Given the description of an element on the screen output the (x, y) to click on. 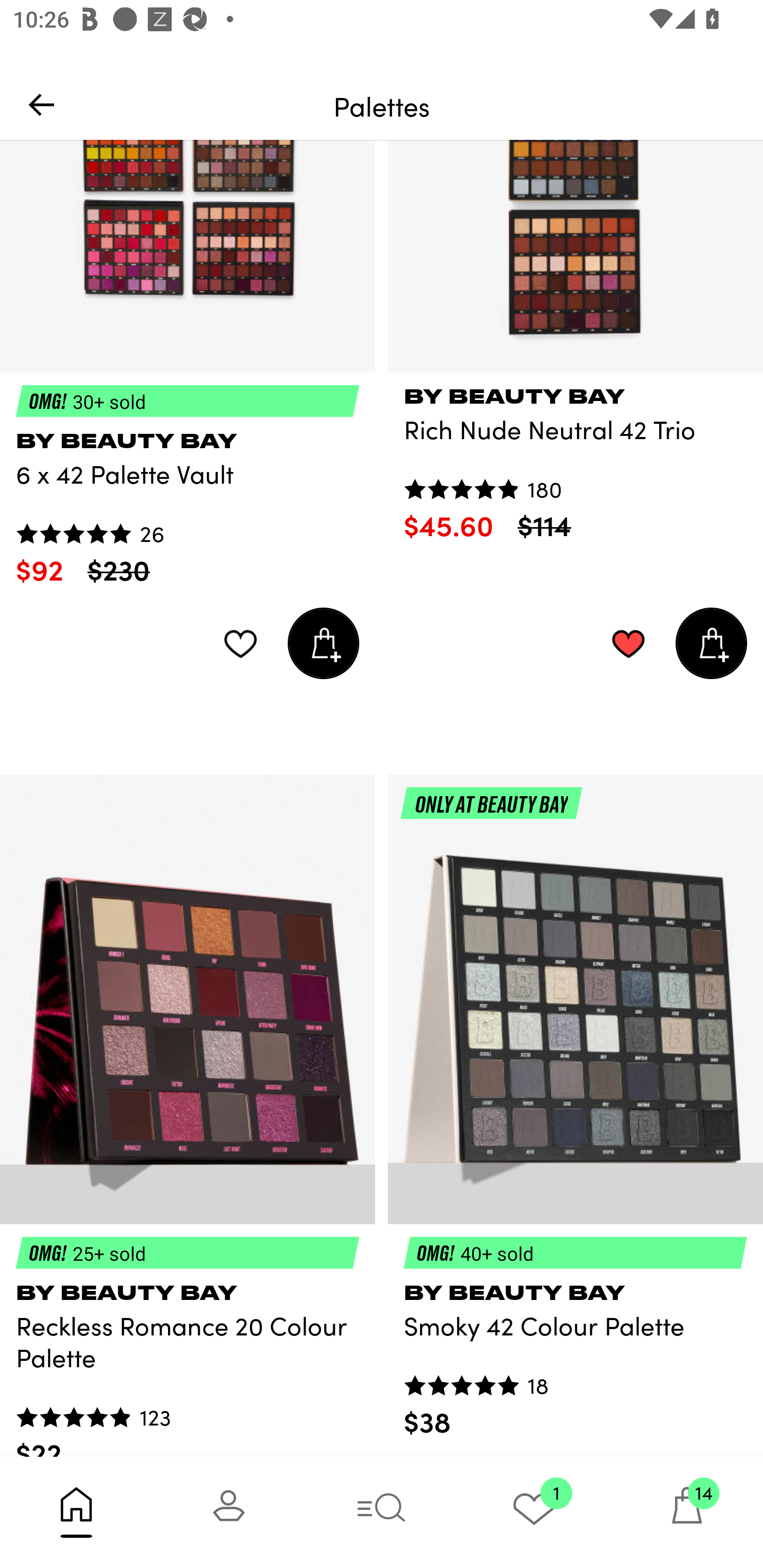
1 (533, 1512)
14 (686, 1512)
